Given the description of an element on the screen output the (x, y) to click on. 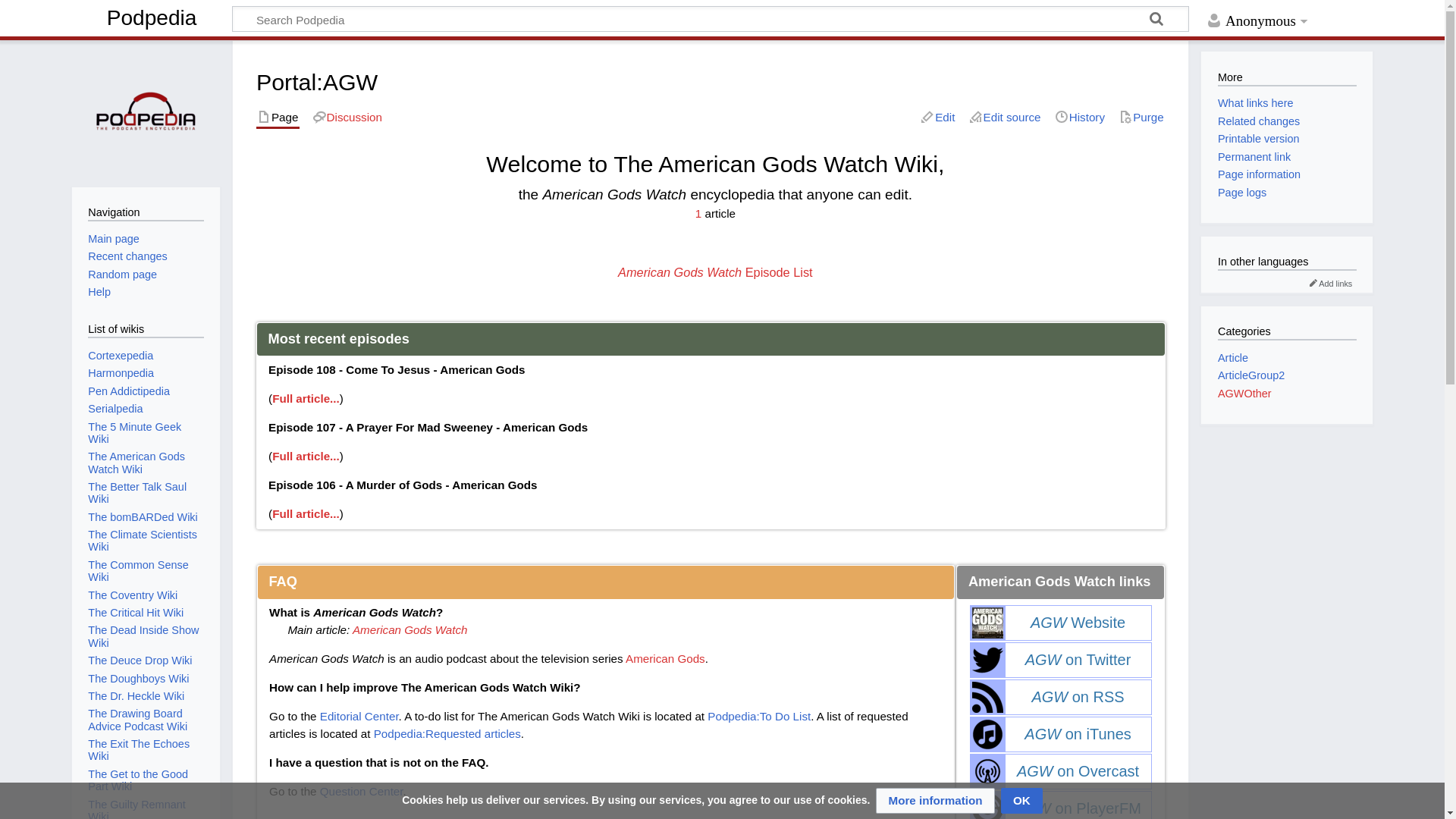
Podpedia:Requested articles (447, 733)
AGW on RSS (1077, 696)
AGW on PlayerFM (1077, 808)
Edit (938, 117)
Question Center (361, 790)
Editorial Center (359, 716)
AGW Website (1077, 622)
Full article... (305, 455)
Go (1155, 21)
Discussion (347, 117)
